Given the description of an element on the screen output the (x, y) to click on. 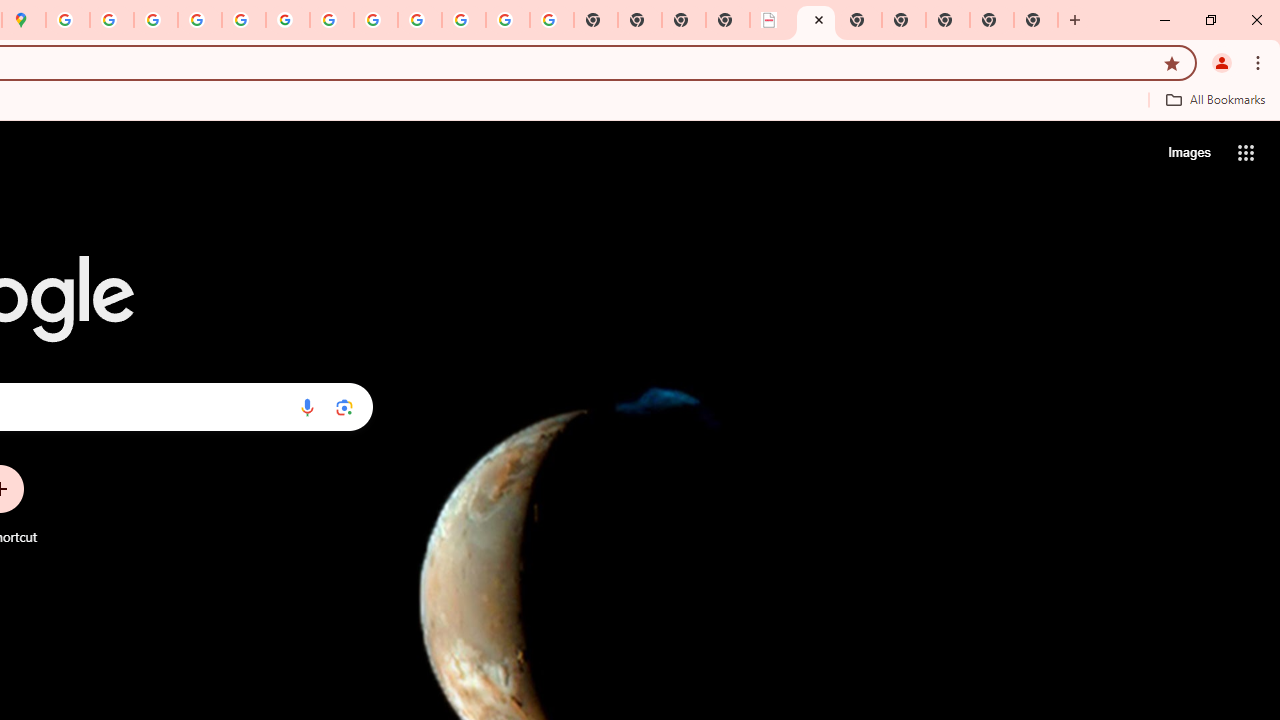
Privacy Help Center - Policies Help (199, 20)
Privacy Help Center - Policies Help (155, 20)
New Tab (1035, 20)
New Tab (903, 20)
